Given the description of an element on the screen output the (x, y) to click on. 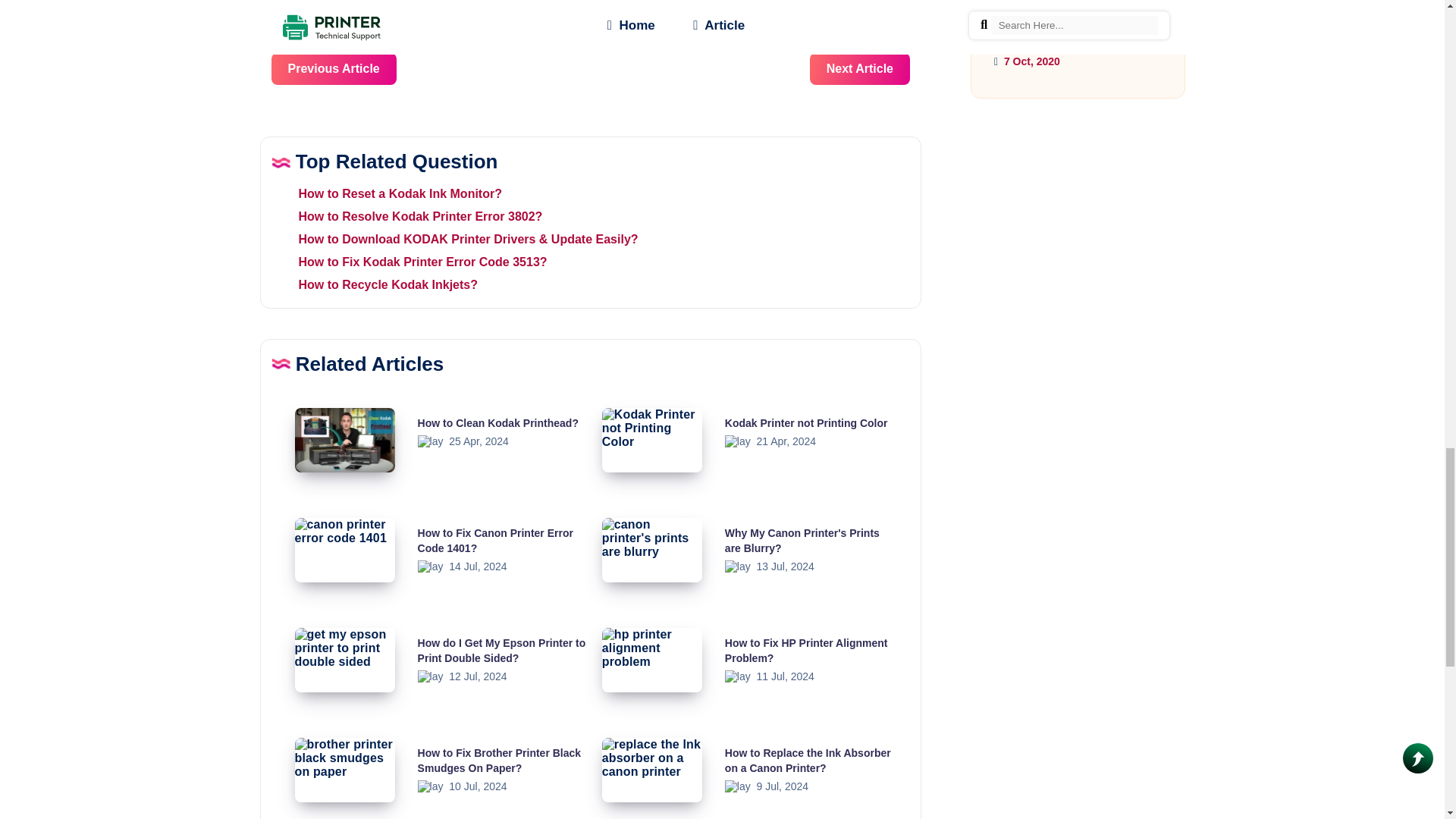
How to Clean Kodak Printhead? (497, 422)
How to Fix Canon Printer Error Code 1401? (495, 540)
How to Resolve Kodak Printer Error 3802? (405, 215)
Why My Canon Printer's Prints are Blurry? (802, 540)
Kodak Printer not Printing Color (806, 422)
How do I Get My Epson Printer to Print Double Sided? (501, 650)
Next Article (859, 69)
How to Fix HP Printer Alignment Problem? (806, 650)
Previous Article (333, 69)
How to Recycle Kodak Inkjets? (373, 284)
How to Reset a Kodak Ink Monitor? (385, 193)
How to Fix Kodak Printer Error Code 3513? (408, 261)
How to Replace the Ink Absorber on a Canon Printer? (808, 759)
How to Fix Brother Printer Black Smudges On Paper? (498, 759)
